Given the description of an element on the screen output the (x, y) to click on. 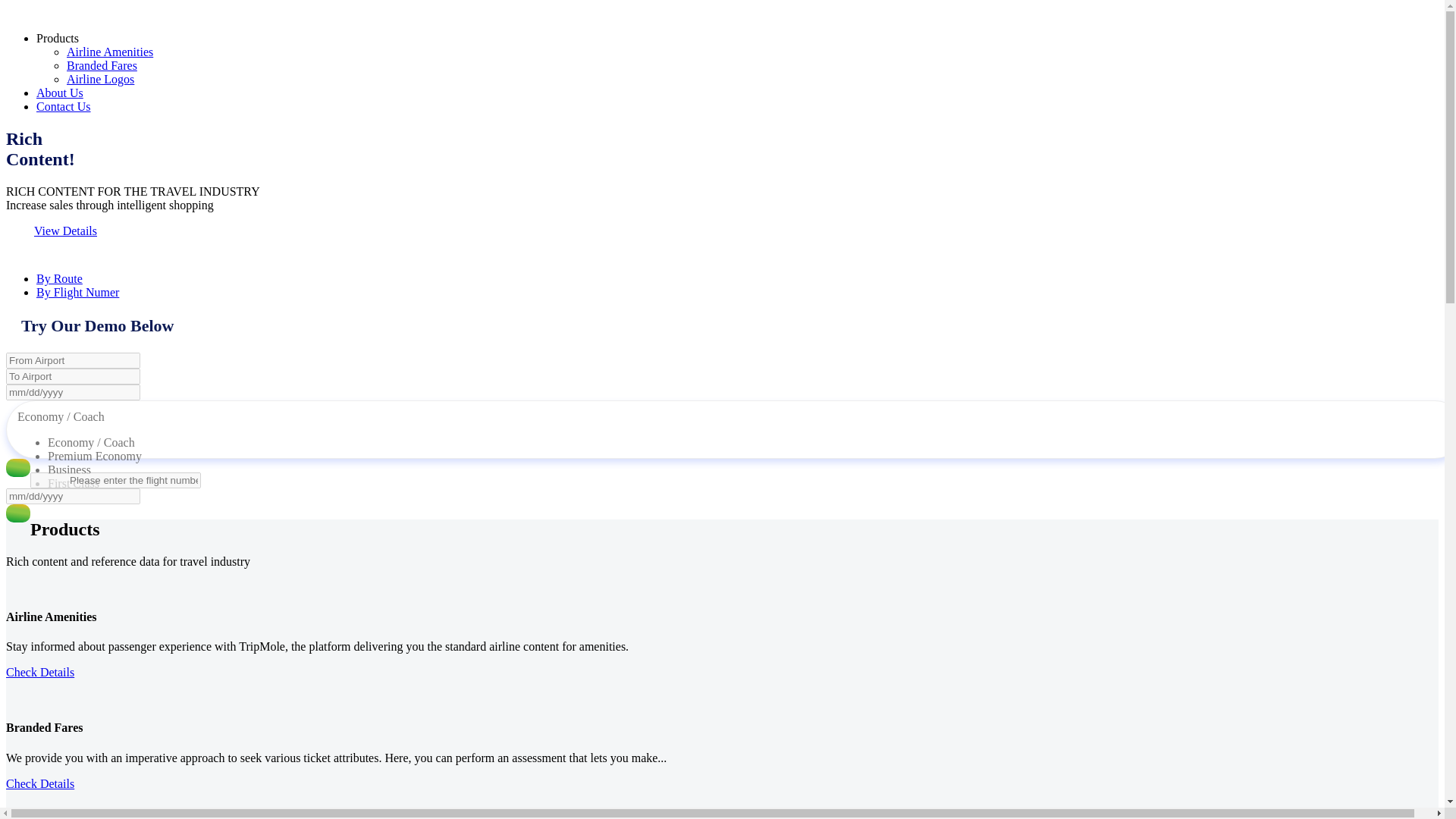
Contact Us (63, 106)
Products (57, 38)
Check Details (39, 783)
Premium Economy (94, 455)
Airline Logos (99, 78)
By Flight Numer (77, 291)
View Details (65, 230)
About Us (59, 92)
First Class (73, 482)
Branded Fares (101, 65)
